Given the description of an element on the screen output the (x, y) to click on. 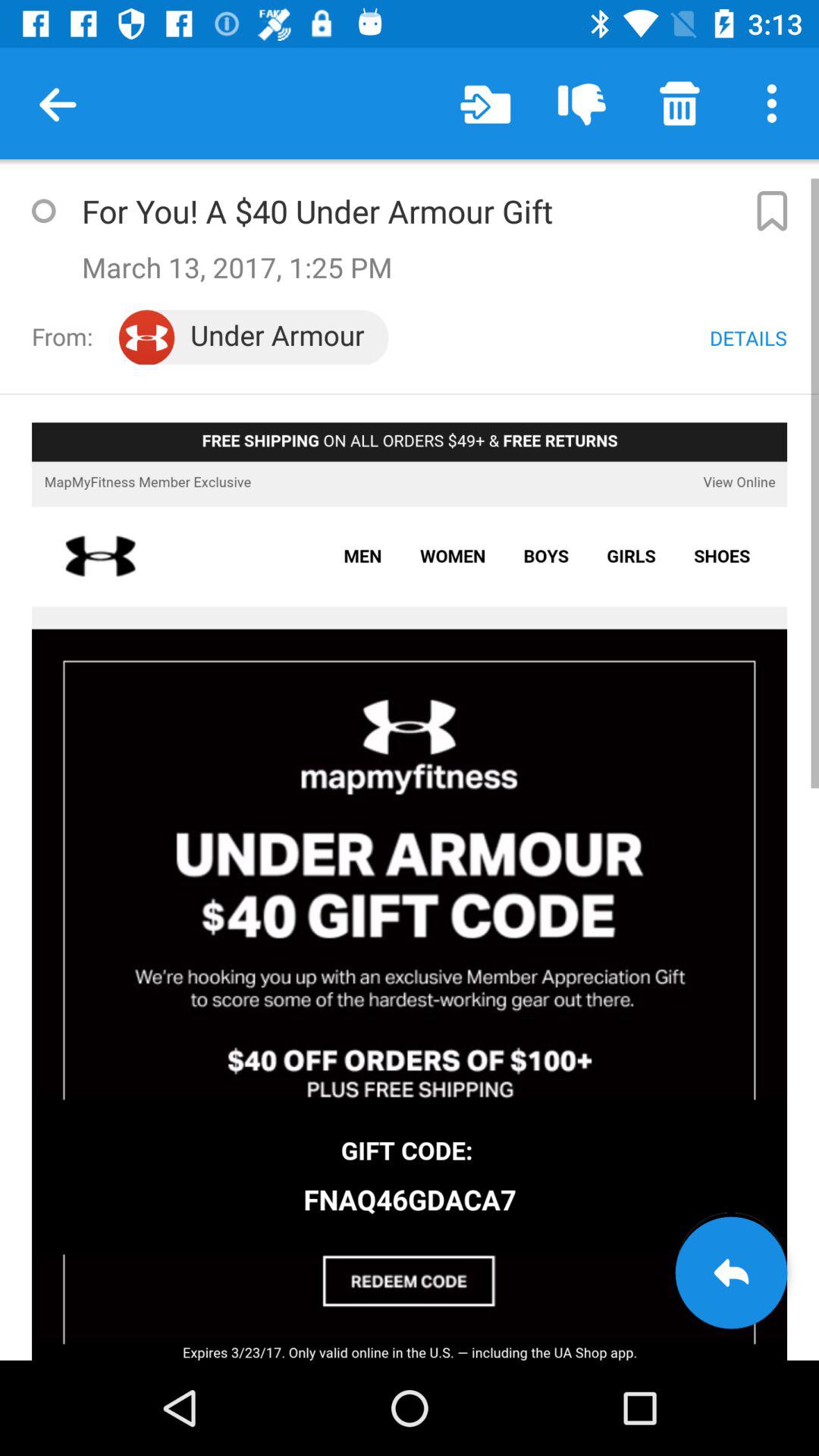
select option (43, 210)
